Given the description of an element on the screen output the (x, y) to click on. 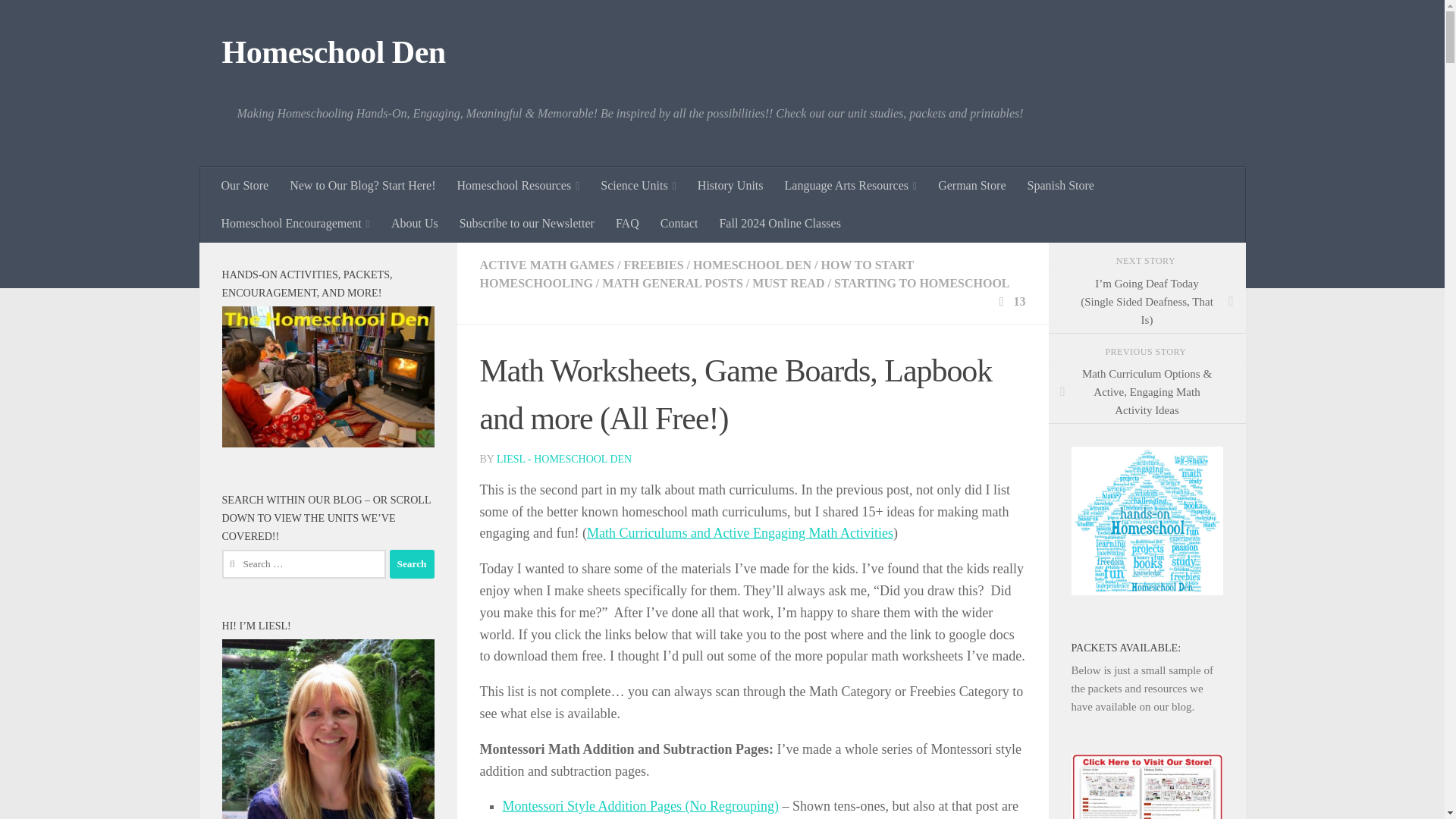
Homeschool Math Curriculums  (739, 532)
Our Store (245, 185)
Posts by Liesl - Homeschool Den (563, 459)
Search (411, 563)
New to Our Blog? Start Here! (362, 185)
Search (411, 563)
Skip to content (59, 20)
Homeschool Den (333, 53)
